Given the description of an element on the screen output the (x, y) to click on. 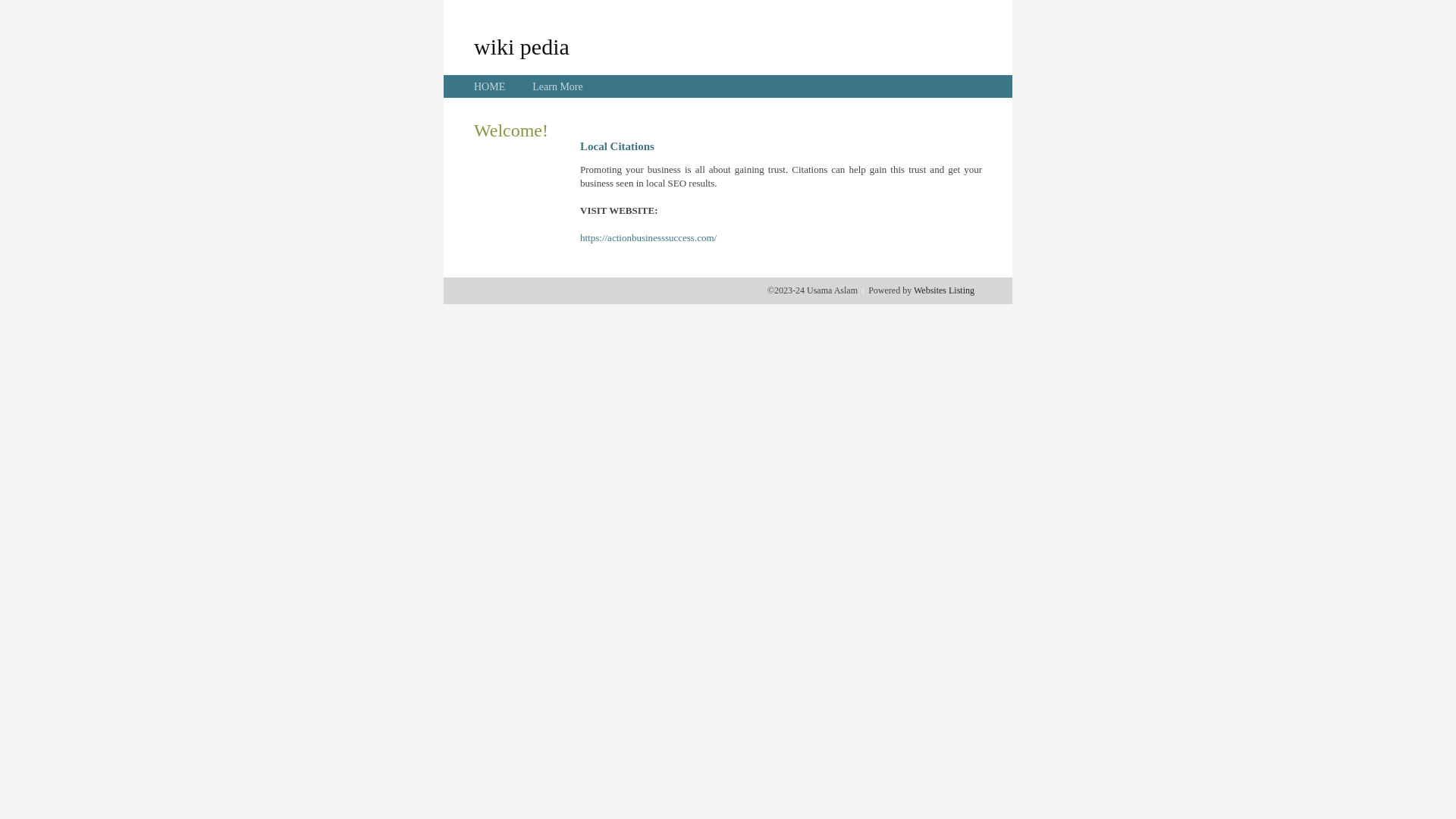
Websites Listing Element type: text (943, 290)
HOME Element type: text (489, 86)
Learn More Element type: text (557, 86)
https://actionbusinesssuccess.com/ Element type: text (648, 237)
wiki pedia Element type: text (521, 46)
